Given the description of an element on the screen output the (x, y) to click on. 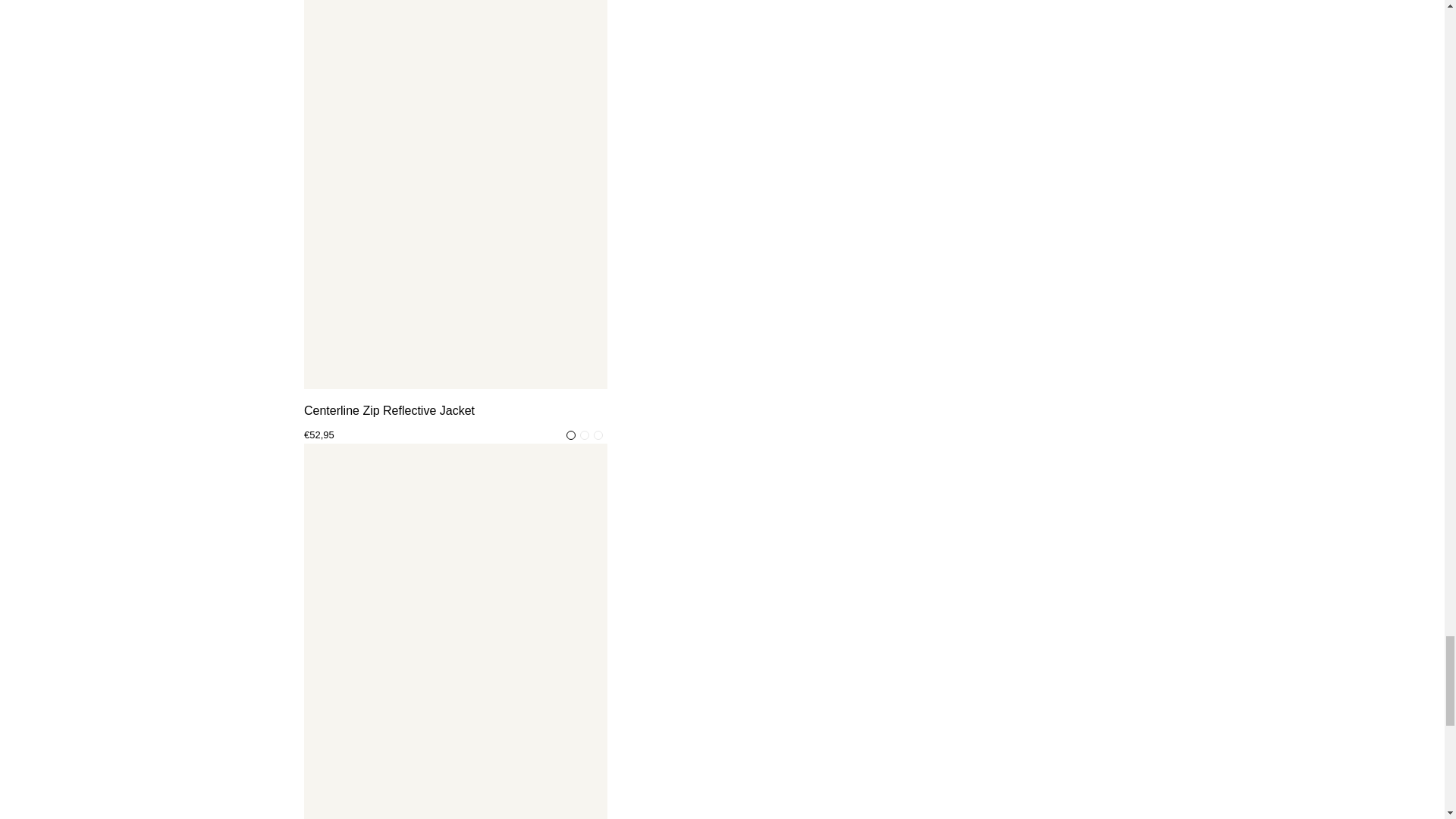
Centerline Zip Reflective Jacket (454, 410)
